Given the description of an element on the screen output the (x, y) to click on. 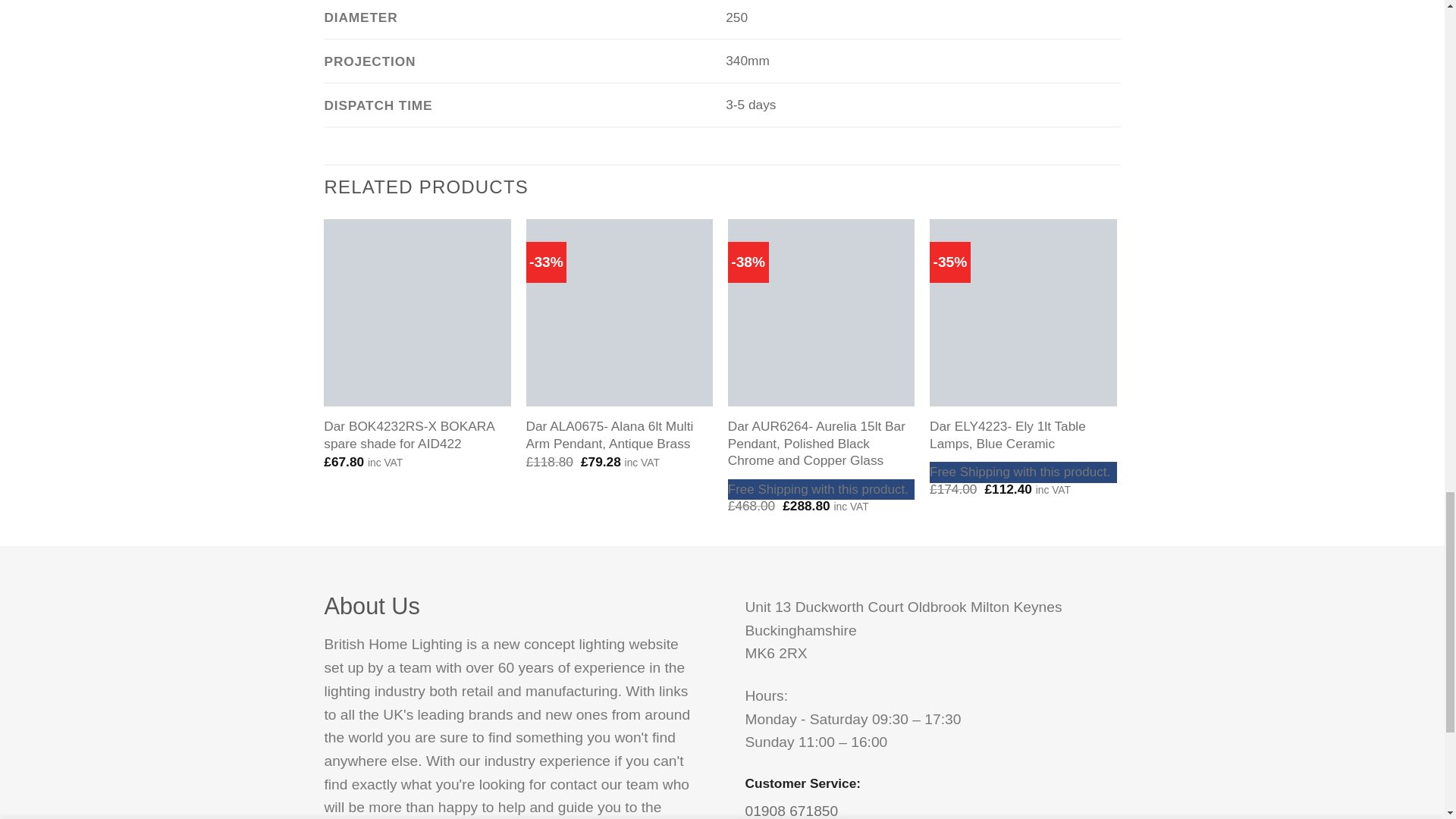
Dar BOK4232RS-X  BOKARA spare shade for AID422 (417, 312)
Dar ELY4223- Ely 1lt Table Lamps, Blue Ceramic (1023, 312)
Dar AXT072- Axton 1lt Wall Light, White Ceramic (1225, 312)
Dar ALA0675- Alana 6lt Multi Arm Pendant, Antique Brass (619, 312)
